Given the description of an element on the screen output the (x, y) to click on. 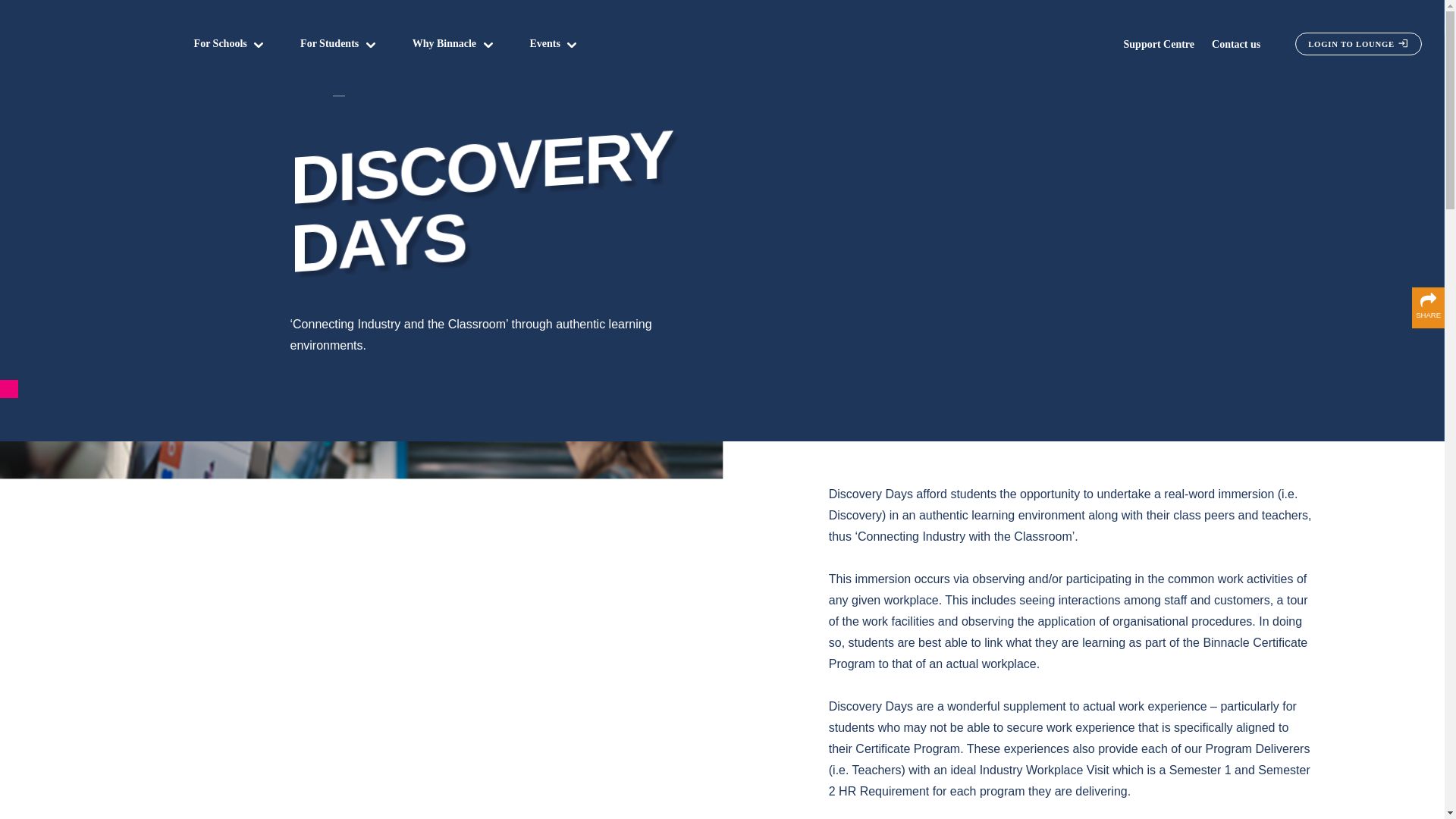
Contact us (1235, 43)
For Students (328, 43)
Events (544, 43)
Why Binnacle (444, 43)
Support Centre (1158, 43)
Binnacle Training (84, 43)
For Schools (220, 43)
LOGIN TO LOUNGE (1358, 43)
